Given the description of an element on the screen output the (x, y) to click on. 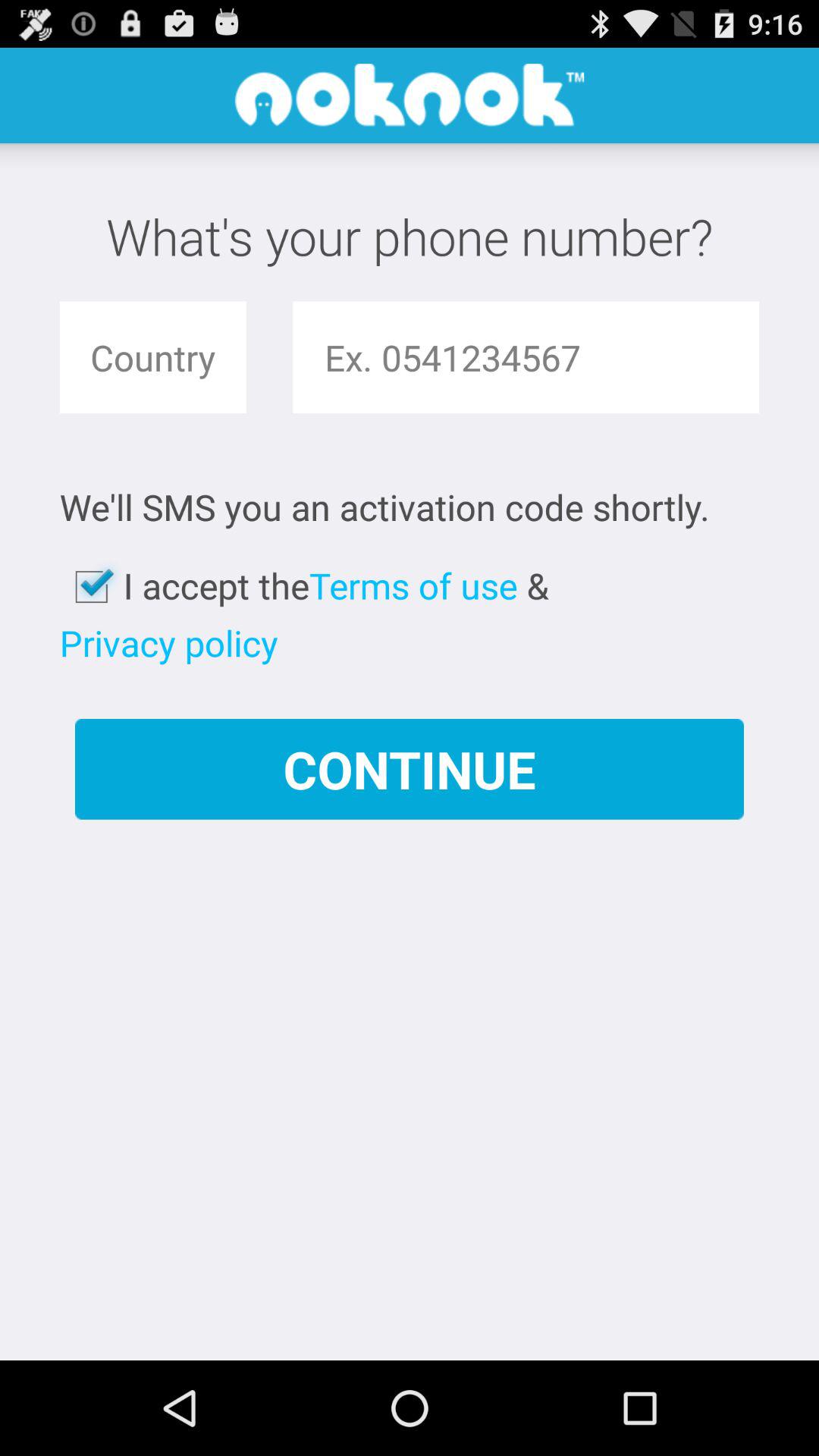
choose icon below the we ll sms item (413, 585)
